Given the description of an element on the screen output the (x, y) to click on. 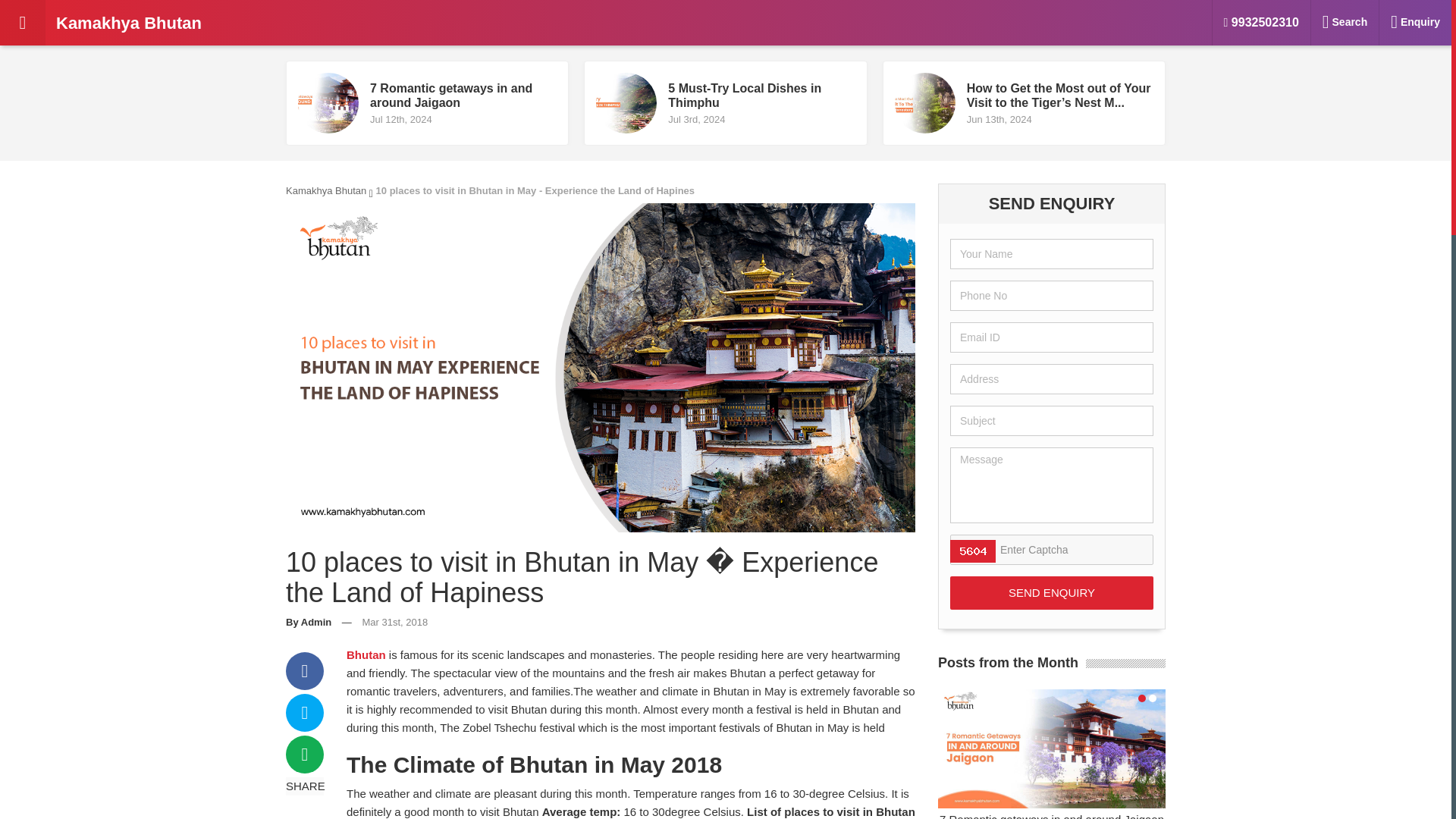
7 Romantic getaways in and around Jaigaon (426, 102)
By Admin (1051, 754)
SEND ENQUIRY (308, 622)
Kamakhya Bhutan (1051, 592)
Bhutan (325, 190)
Kamakhya Bhutan (365, 654)
SEND ENQUIRY (161, 23)
9932502310 (1051, 592)
